Given the description of an element on the screen output the (x, y) to click on. 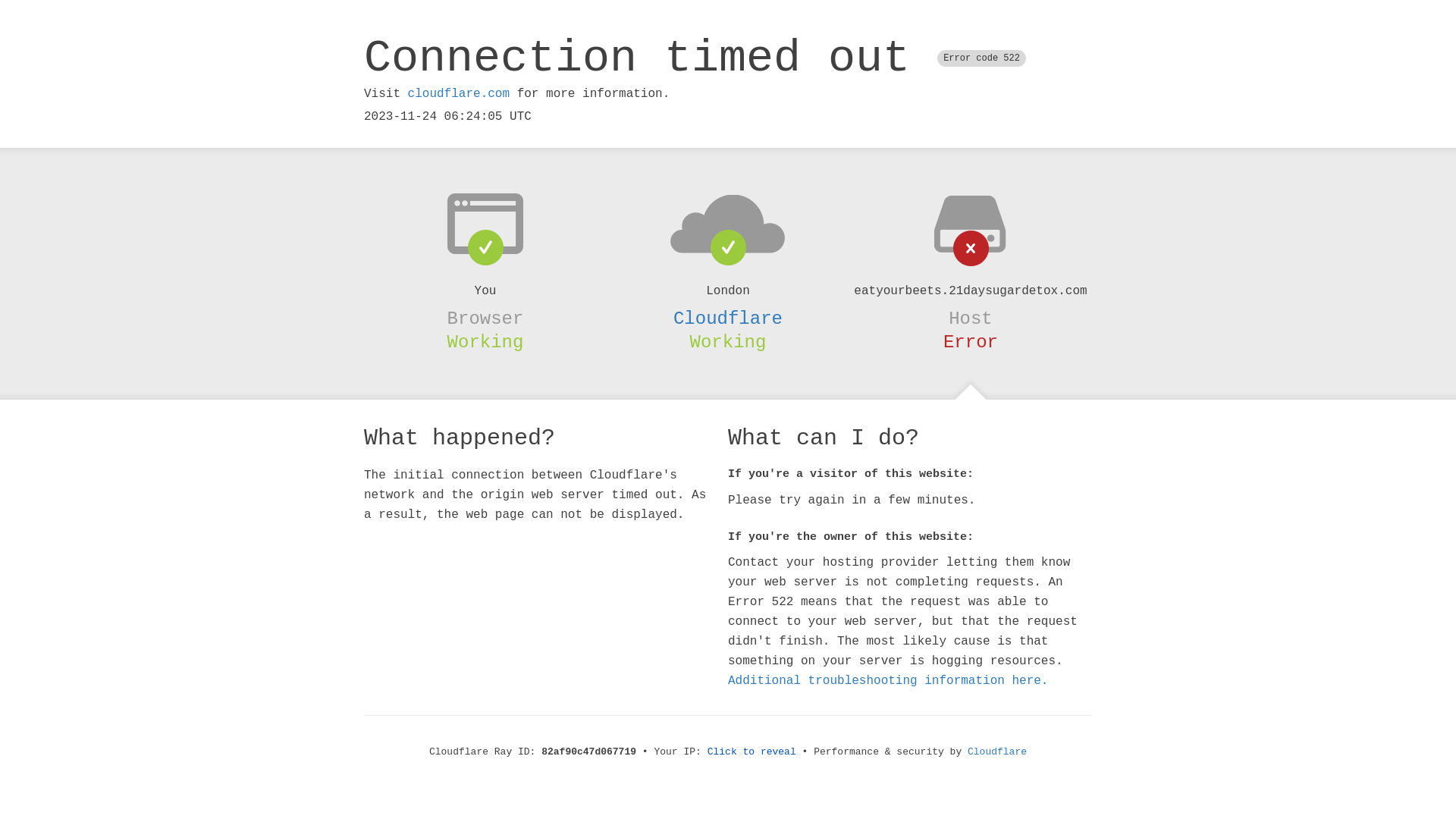
Additional troubleshooting information here. Element type: text (888, 680)
cloudflare.com Element type: text (458, 93)
Cloudflare Element type: text (996, 751)
Cloudflare Element type: text (727, 318)
Click to reveal Element type: text (751, 751)
